Given the description of an element on the screen output the (x, y) to click on. 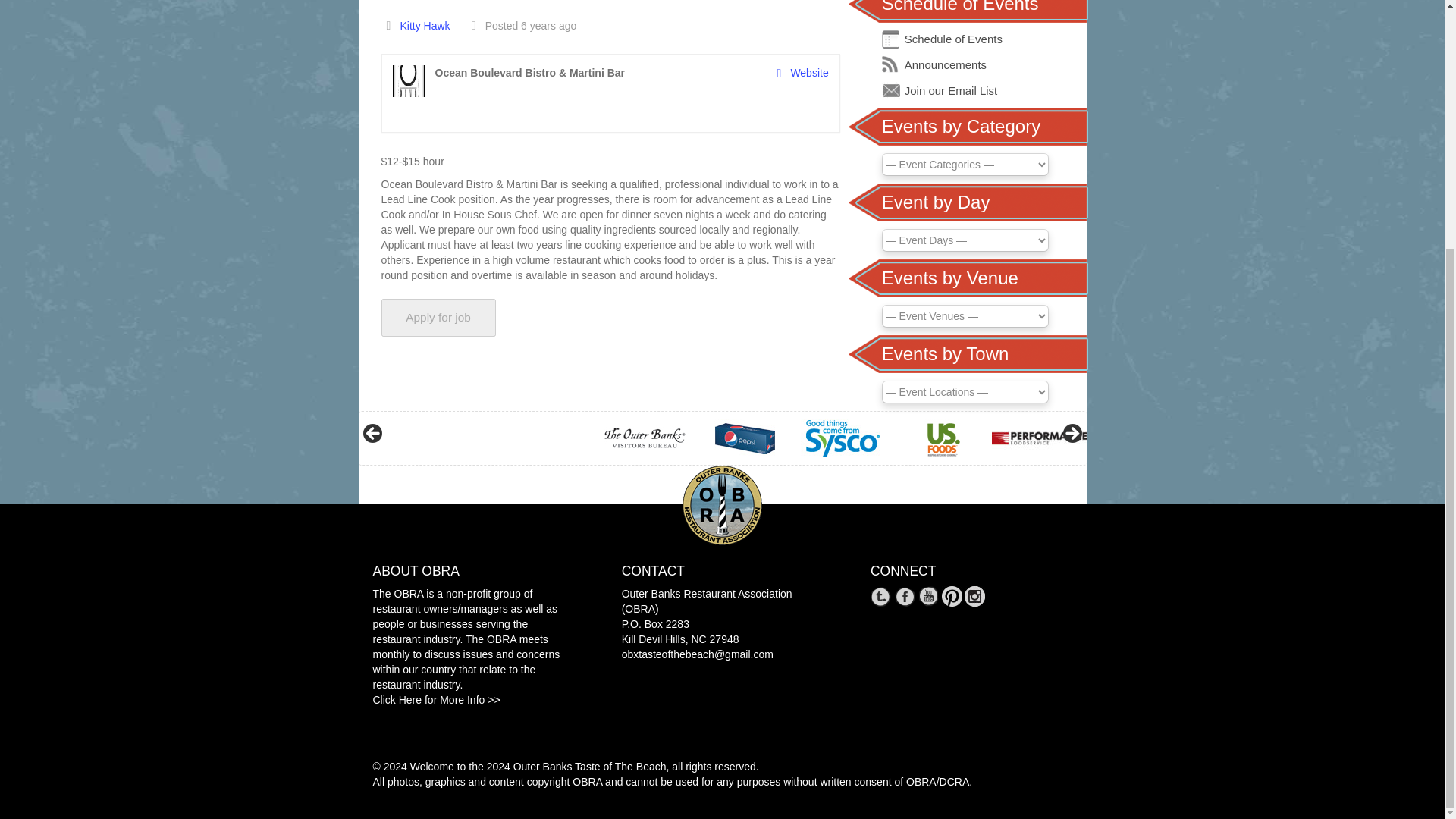
Outer Banks Taste of The Beach (589, 766)
Kitty Hawk (424, 25)
Apply for job (437, 317)
Website (802, 73)
Join our Email List (950, 90)
pfg-northcenter-logo (1038, 438)
Announcements (945, 64)
Schedule of Events (953, 38)
